Given the description of an element on the screen output the (x, y) to click on. 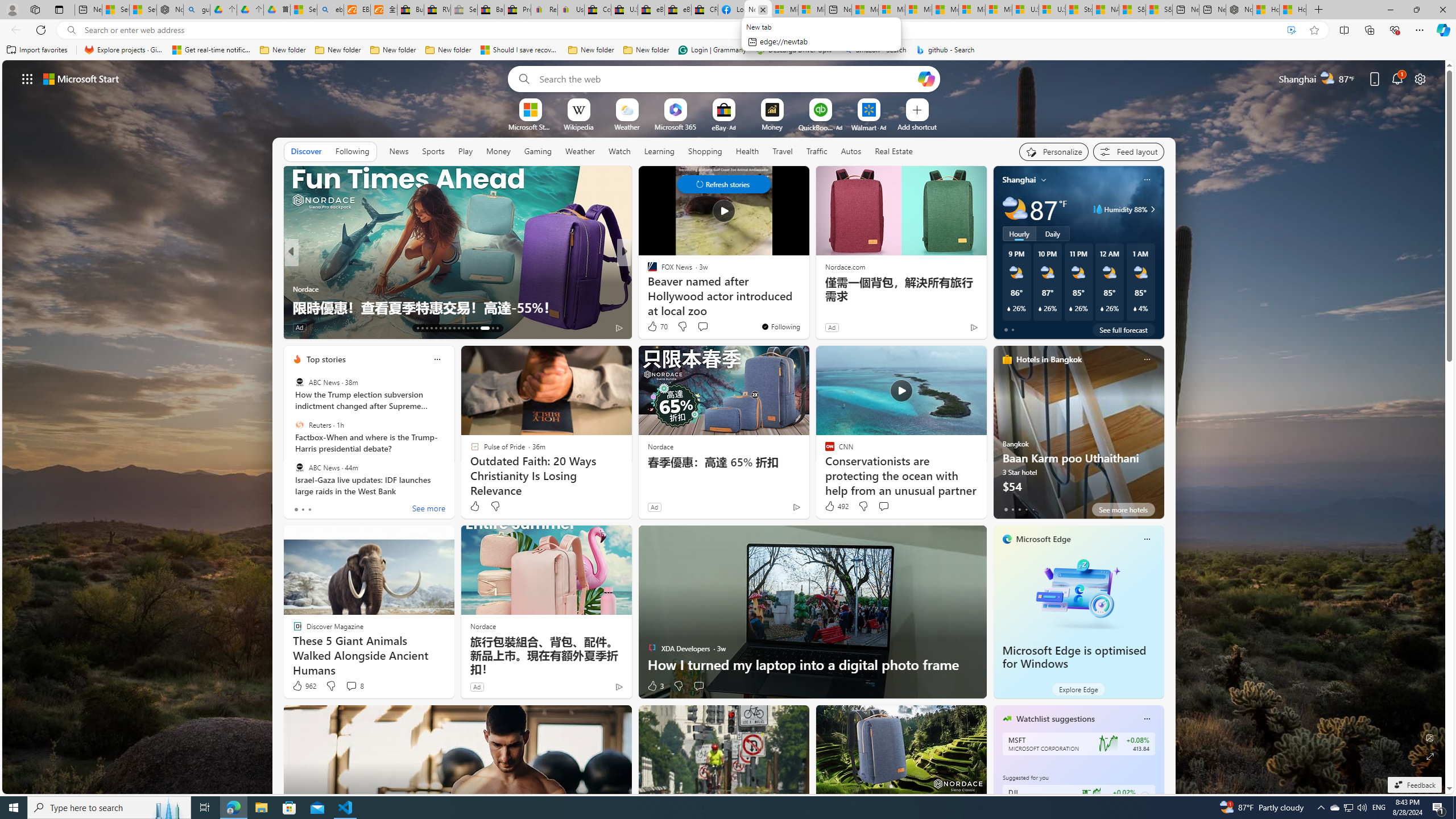
AutomationID: tab-22 (458, 328)
Ad Choice (619, 686)
RV, Trailer & Camper Steps & Ladders for sale | eBay (437, 9)
Enter your search term (726, 78)
Press Room - eBay Inc. (517, 9)
guge yunpan - Search (197, 9)
AutomationID: tab-19 (444, 328)
See more hotels (1123, 509)
Money (498, 151)
Learning (659, 151)
